Given the description of an element on the screen output the (x, y) to click on. 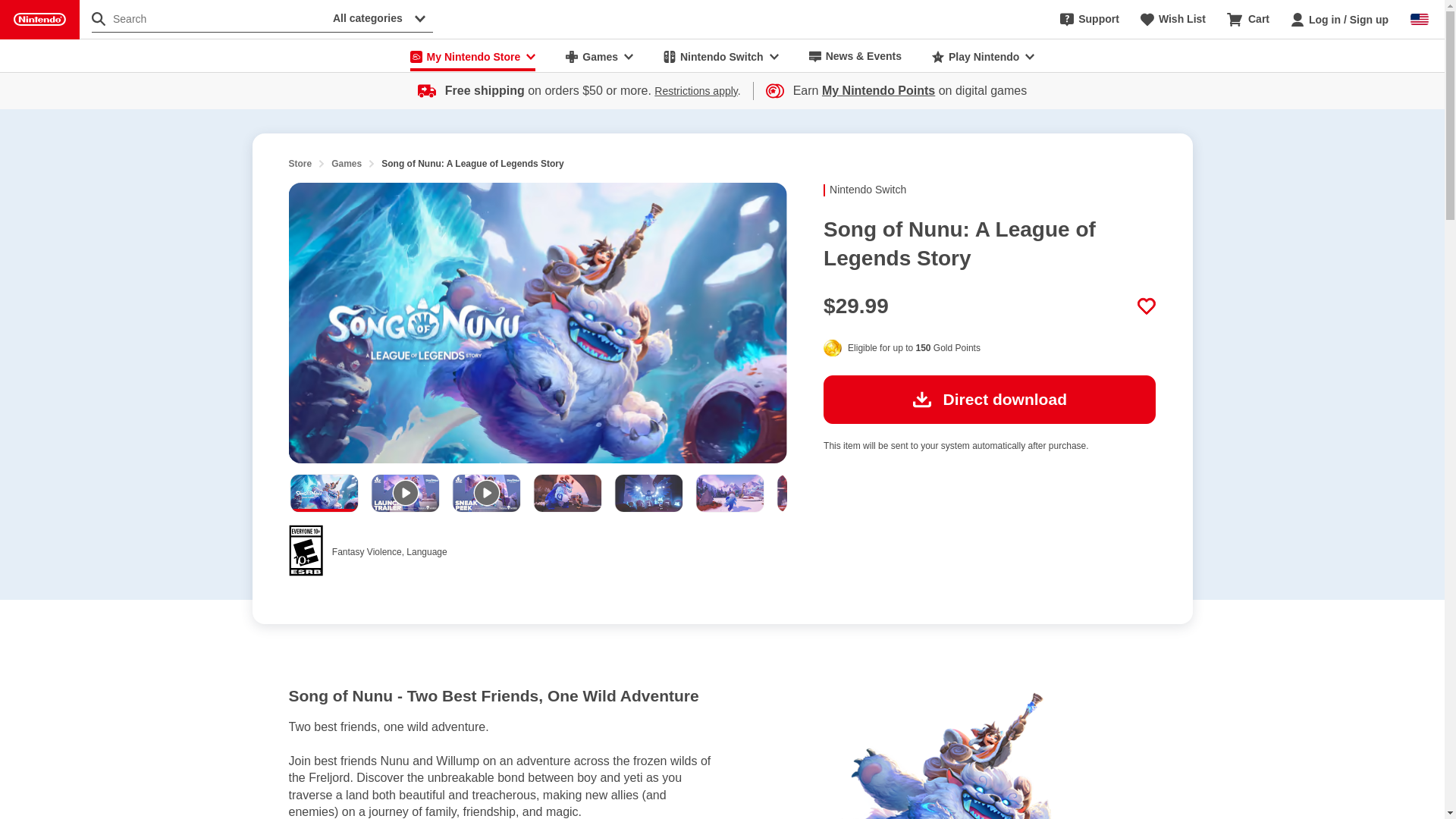
Games (599, 56)
Search (208, 18)
Support (1089, 19)
Play Nintendo (983, 56)
My Nintendo Store (472, 56)
Nintendo (40, 19)
Cart (1248, 19)
Nintendo Switch (720, 56)
Wish List (1172, 19)
